Given the description of an element on the screen output the (x, y) to click on. 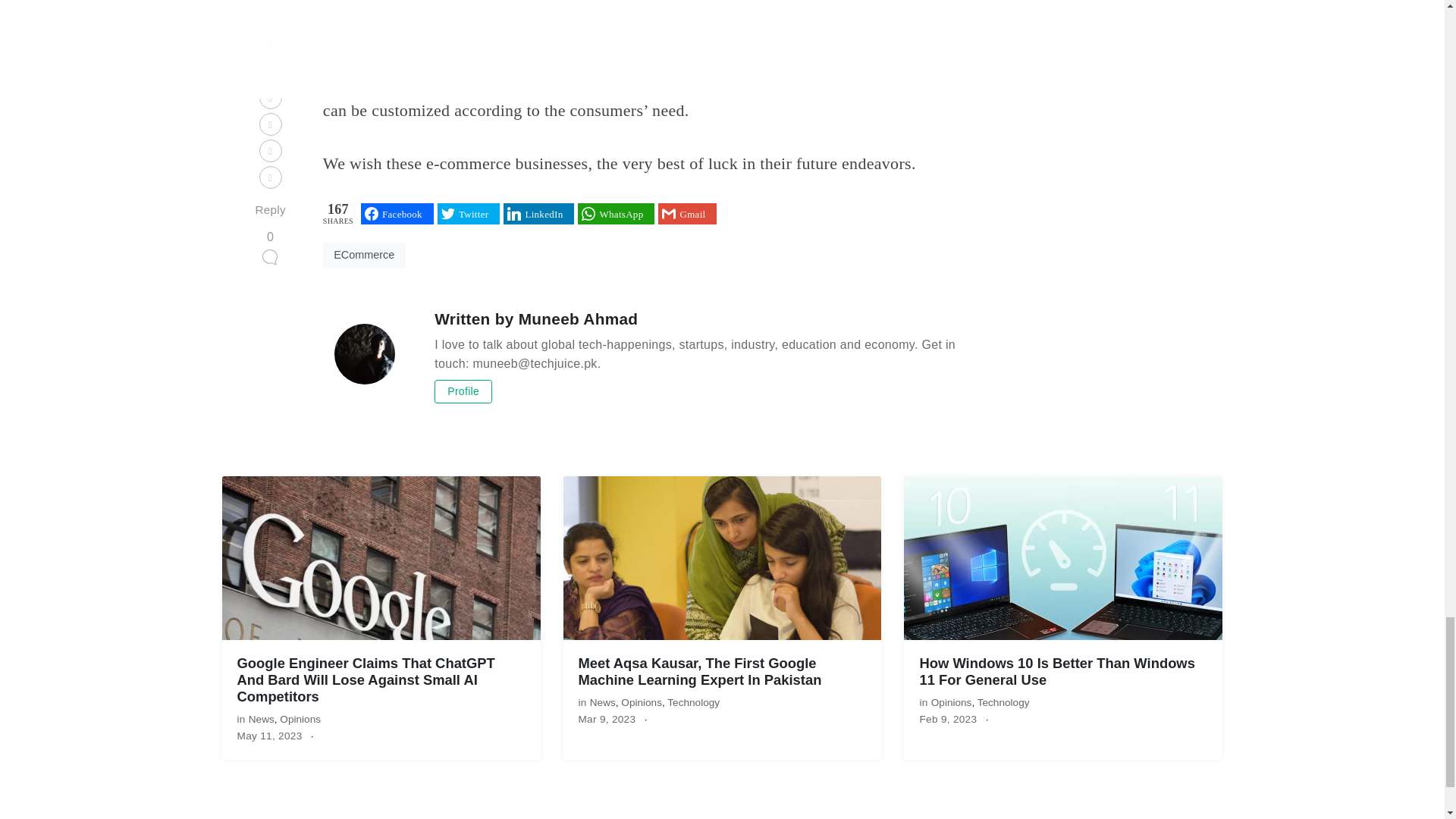
Share on LinkedIn (538, 213)
Share on Facebook (397, 213)
Share on Twitter (468, 213)
